Given the description of an element on the screen output the (x, y) to click on. 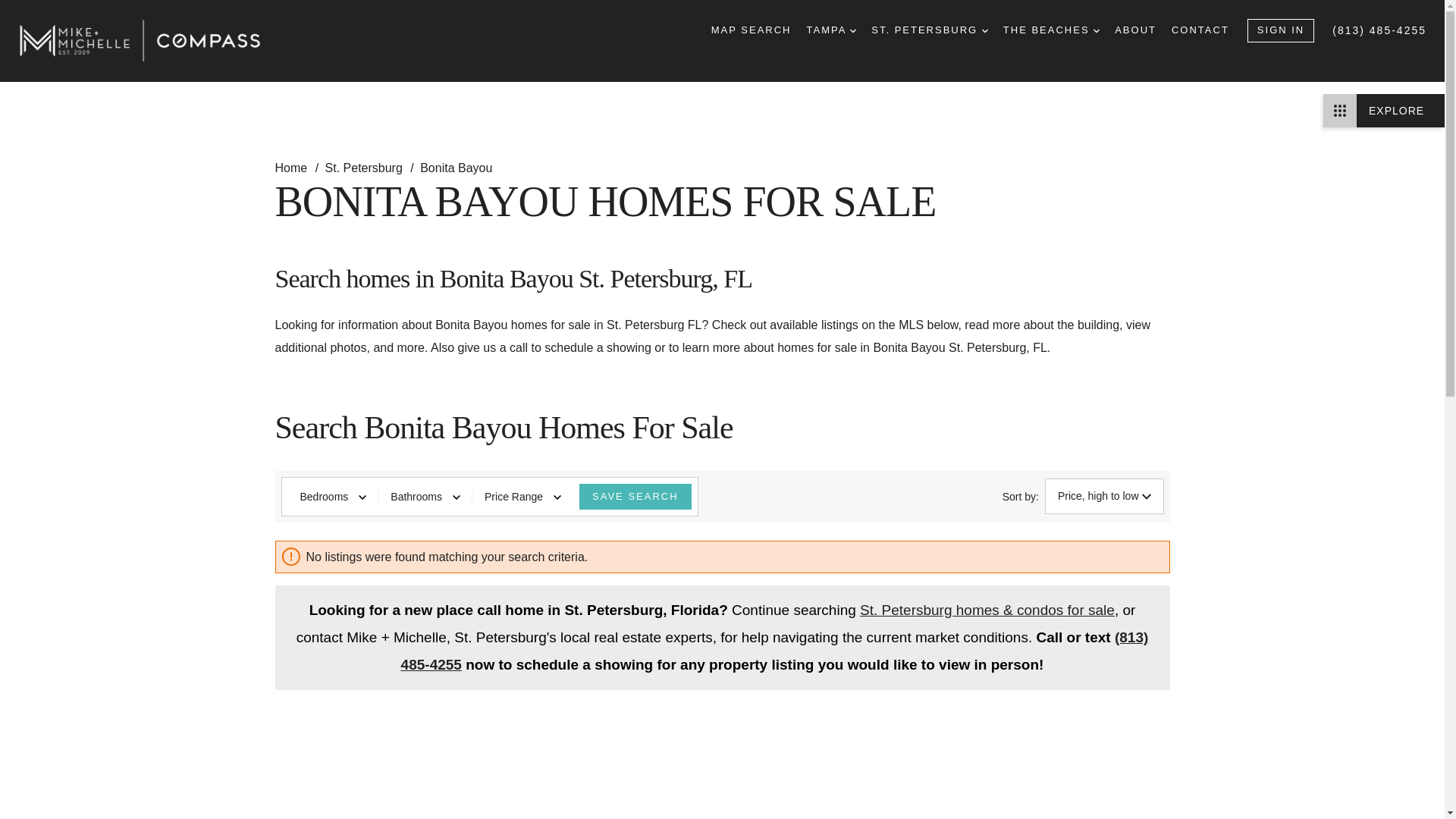
DROPDOWN ARROW (984, 30)
DROPDOWN ARROW (853, 30)
DROPDOWN ARROW (1096, 30)
CONTACT (1200, 30)
MAP SEARCH (751, 30)
THE BEACHES DROPDOWN ARROW (1051, 30)
ABOUT (1135, 30)
TAMPA DROPDOWN ARROW (831, 30)
ST. PETERSBURG DROPDOWN ARROW (929, 30)
